Given the description of an element on the screen output the (x, y) to click on. 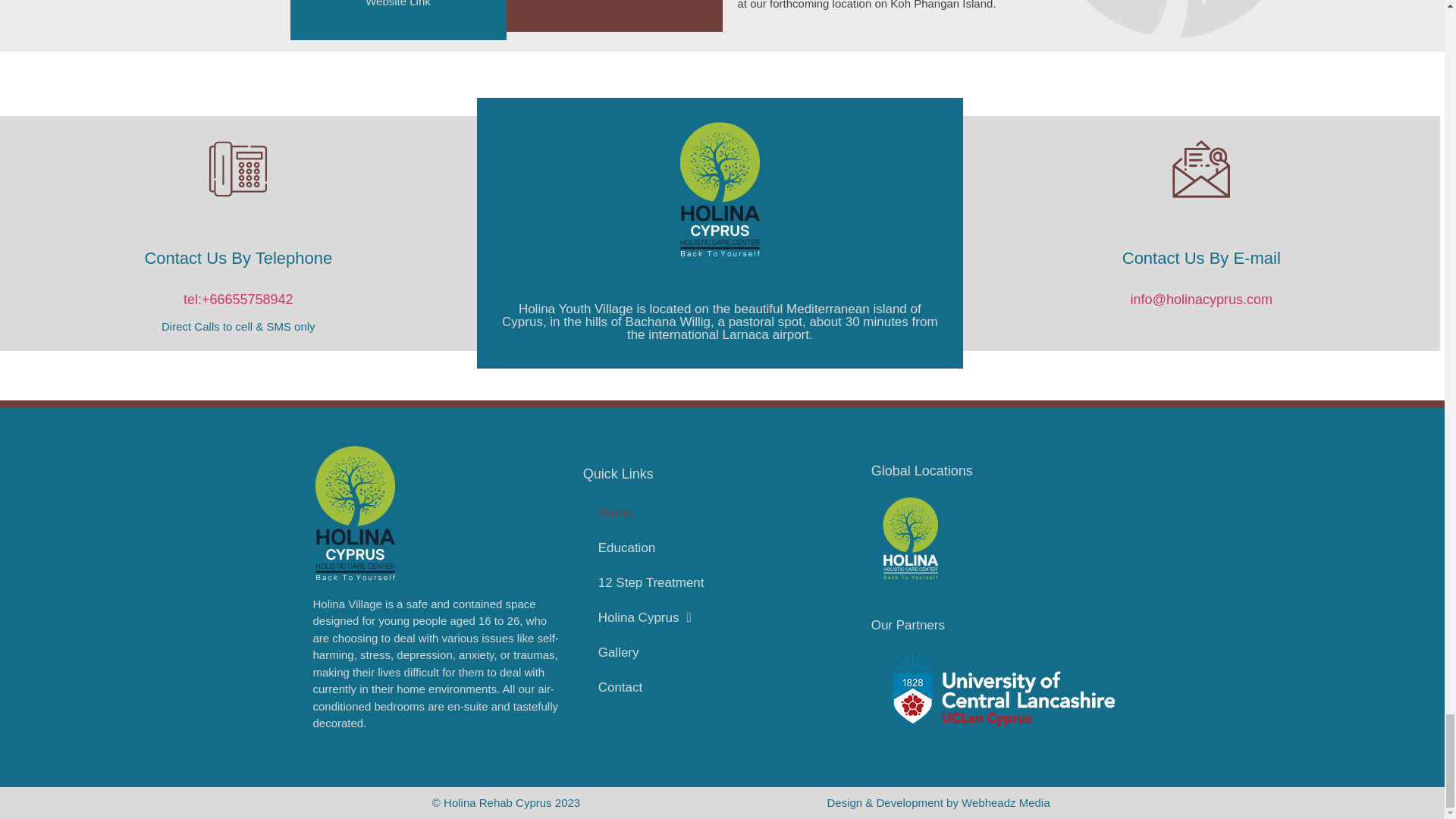
Website Link (397, 3)
